Given the description of an element on the screen output the (x, y) to click on. 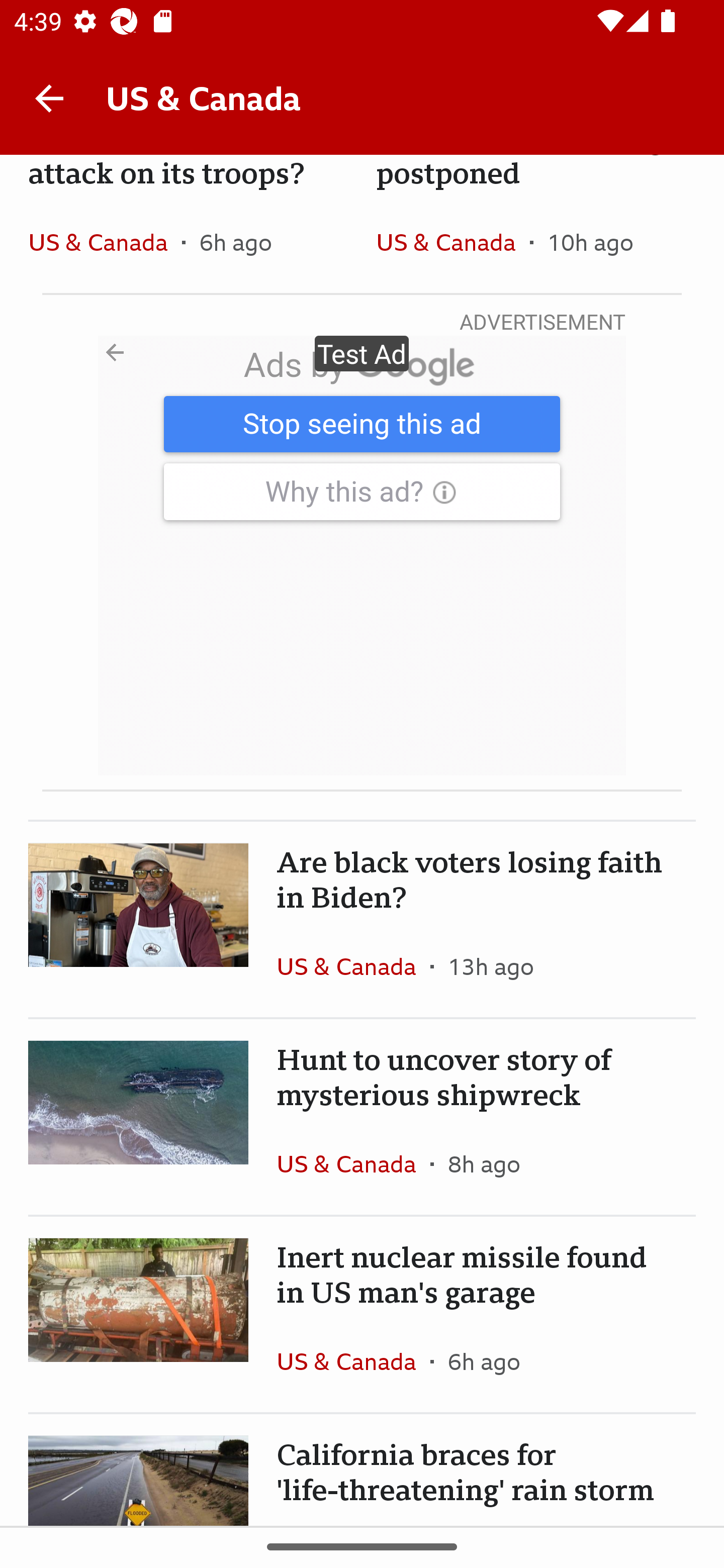
Back (49, 97)
US & Canada In the section US & Canada (104, 242)
US & Canada In the section US & Canada (452, 242)
Advertisement (361, 555)
US & Canada In the section US & Canada (353, 966)
US & Canada In the section US & Canada (353, 1164)
US & Canada In the section US & Canada (353, 1361)
